Given the description of an element on the screen output the (x, y) to click on. 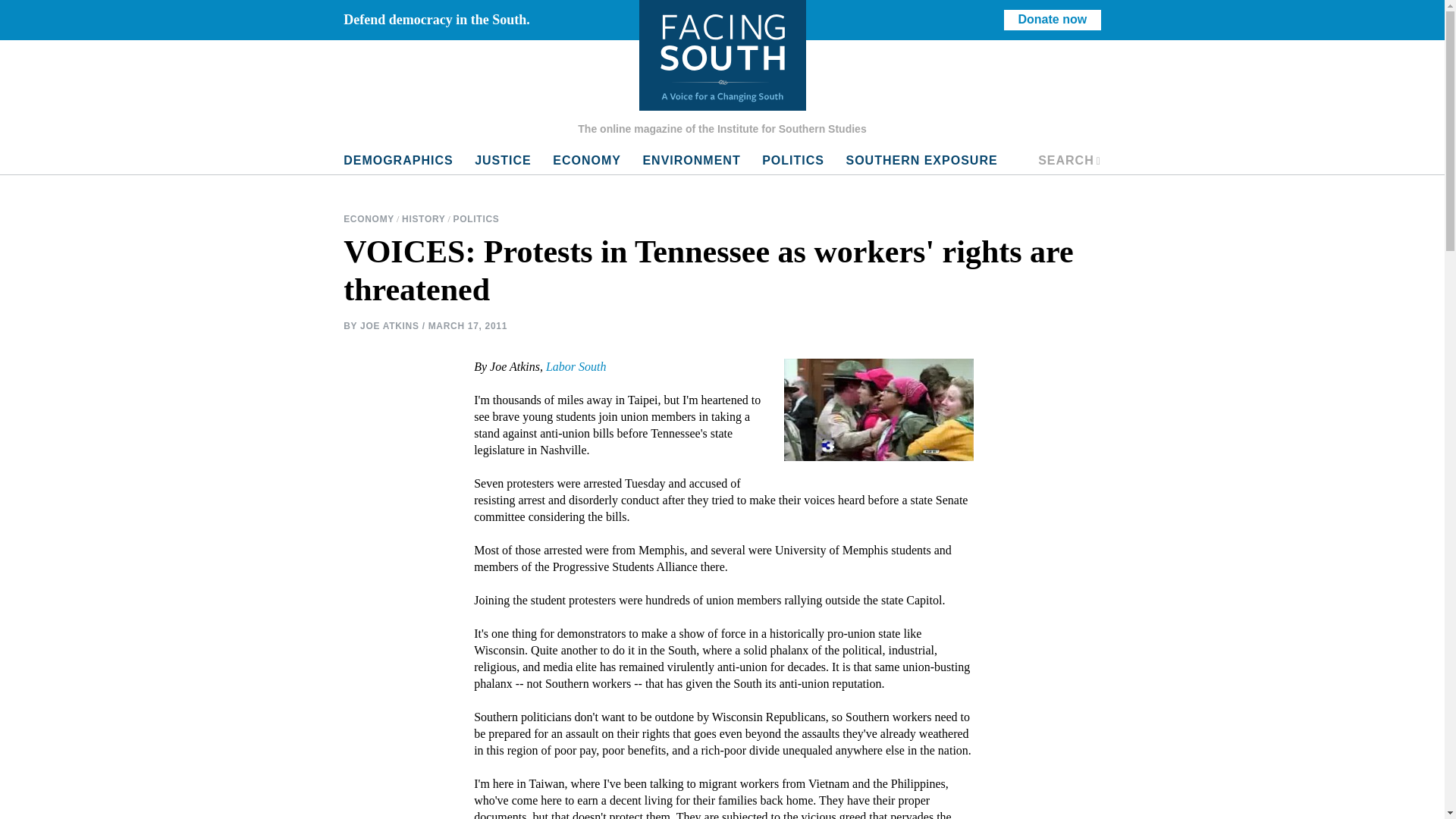
Labor South (576, 366)
Home (722, 55)
Donate now (1052, 19)
POLITICS (476, 219)
SOUTHERN EXPOSURE (920, 160)
JOE ATKINS (389, 325)
POLITICS (792, 160)
ECONOMY (586, 160)
ECONOMY (1069, 160)
JUSTICE (369, 219)
DEMOGRAPHICS (502, 160)
HISTORY (397, 160)
ENVIRONMENT (423, 219)
Skip to main content (691, 160)
